Given the description of an element on the screen output the (x, y) to click on. 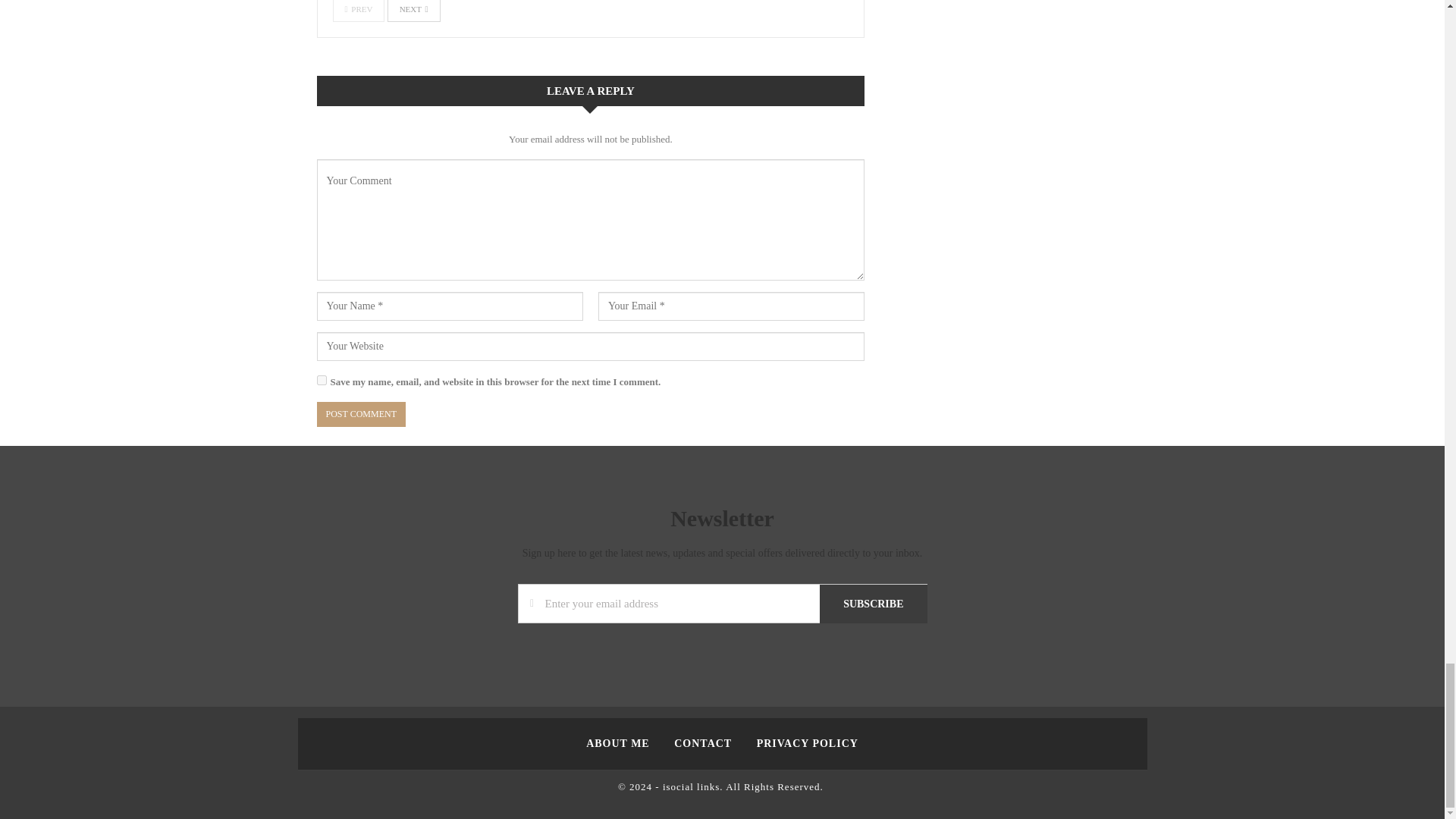
Post Comment (361, 414)
yes (321, 379)
